Given the description of an element on the screen output the (x, y) to click on. 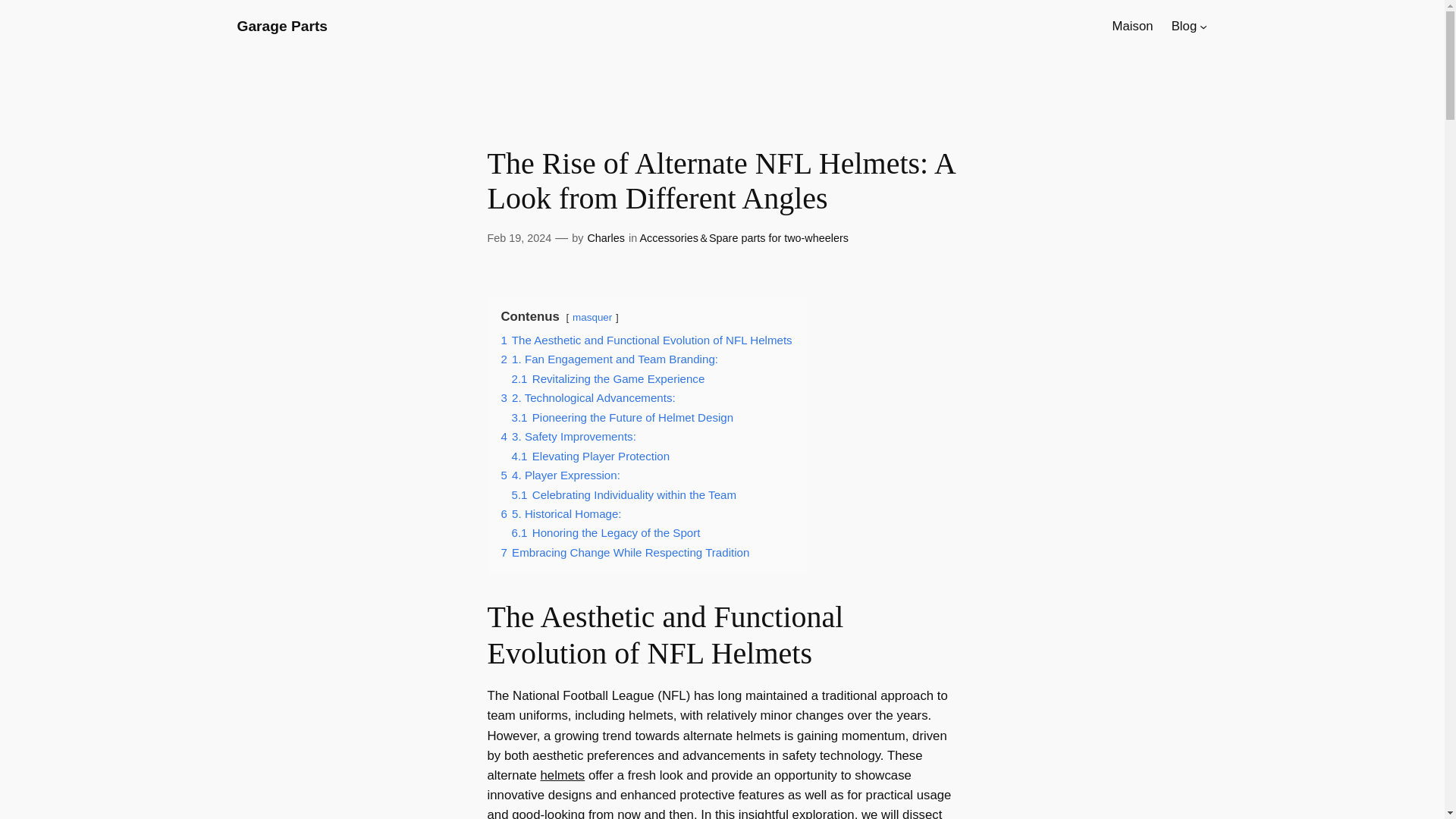
5 4. Player Expression: (560, 474)
5.1 Celebrating Individuality within the Team (623, 494)
6.1 Honoring the Legacy of the Sport (605, 532)
6 5. Historical Homage: (560, 513)
4.1 Elevating Player Protection (590, 455)
helmets (562, 775)
Feb 19, 2024 (518, 237)
Blog (1184, 26)
2.1 Revitalizing the Game Experience (607, 378)
1 The Aesthetic and Functional Evolution of NFL Helmets (646, 339)
